Given the description of an element on the screen output the (x, y) to click on. 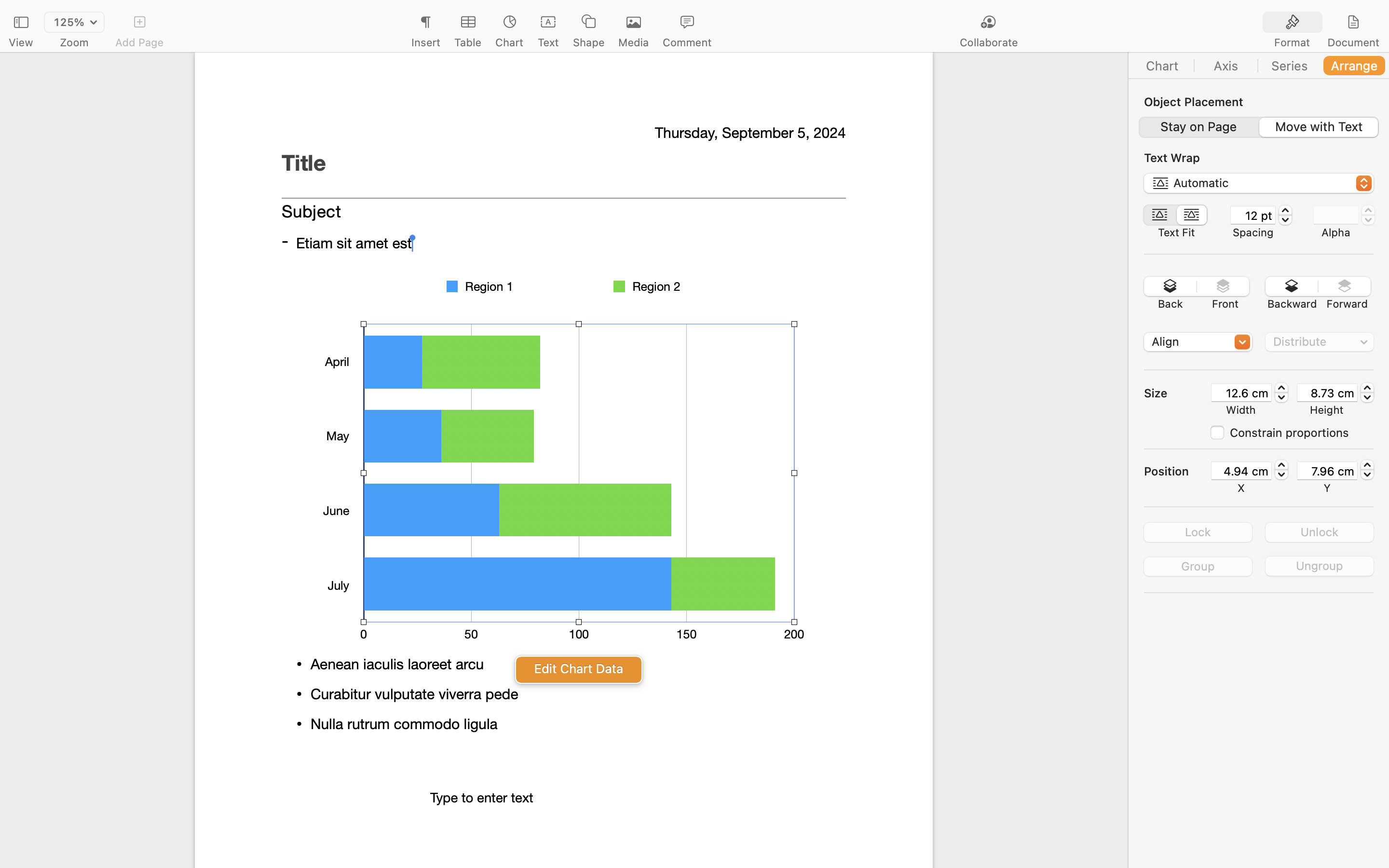
Width Element type: AXStaticText (1240, 409)
12 pt Element type: AXTextField (1252, 214)
<AXUIElement 0x28a55f2a0> {pid=1482} Element type: AXRadioGroup (1258, 65)
12.0 Element type: AXIncrementor (1285, 214)
